Given the description of an element on the screen output the (x, y) to click on. 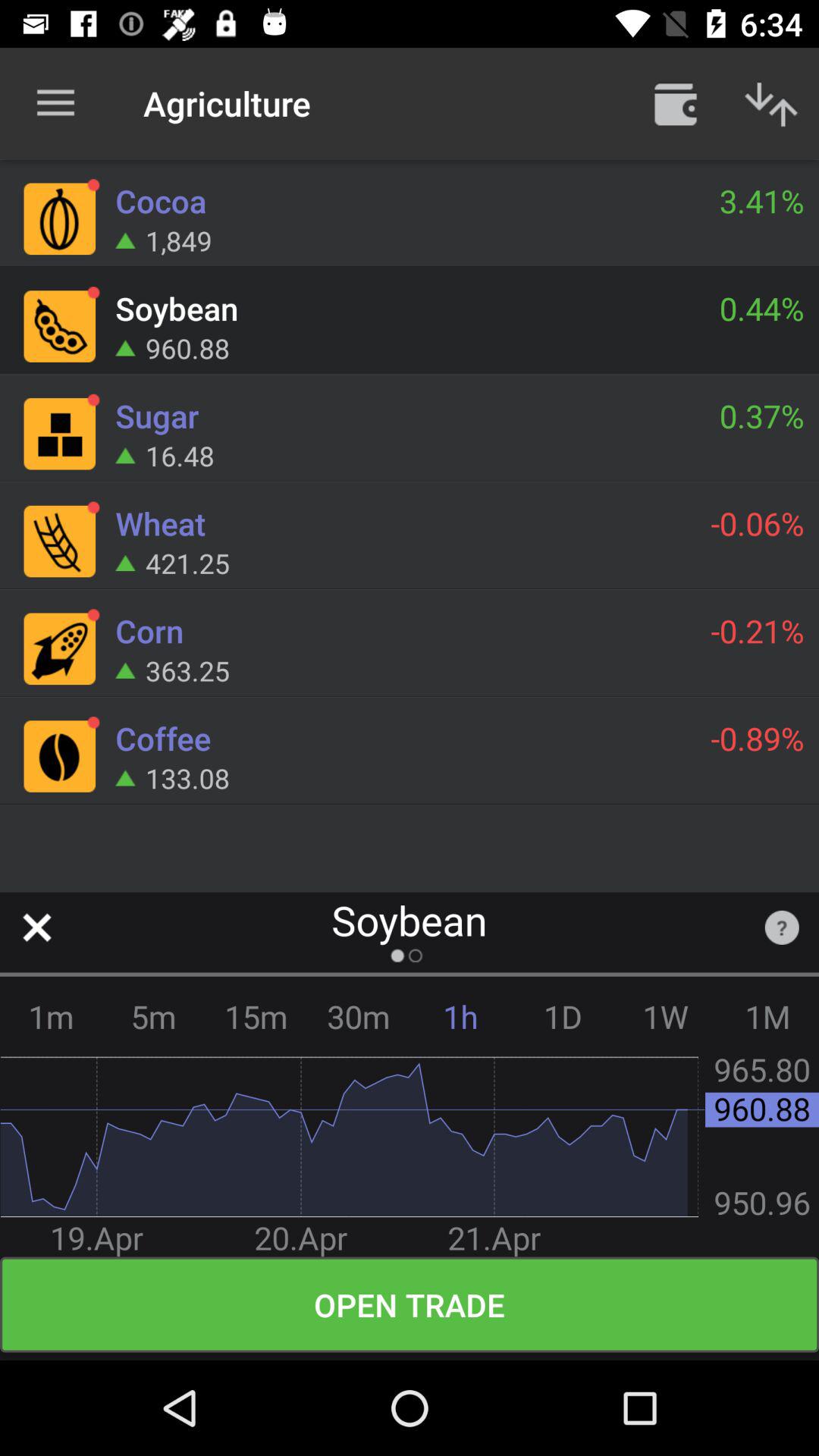
turn off icon next to soybean item (36, 927)
